Given the description of an element on the screen output the (x, y) to click on. 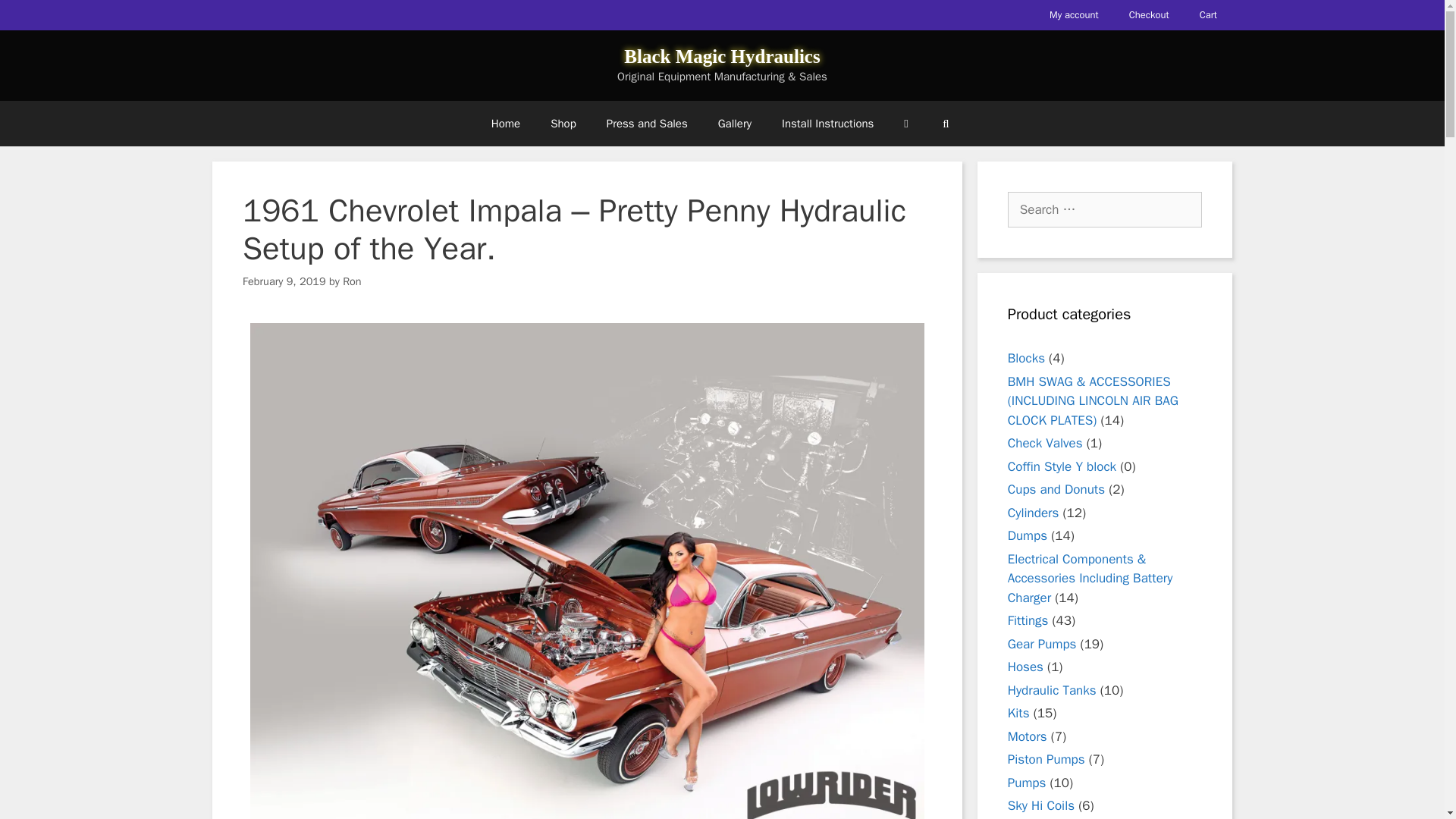
View your shopping cart (905, 122)
Press and Sales (647, 122)
Checkout (1149, 15)
View all posts by Ron (351, 281)
Ron (351, 281)
Cart (1208, 15)
Search for: (1104, 208)
Gallery (735, 122)
My account (1073, 15)
Black Magic Hydraulics (721, 55)
Home (505, 122)
Shop (563, 122)
Install Instructions (827, 122)
